Given the description of an element on the screen output the (x, y) to click on. 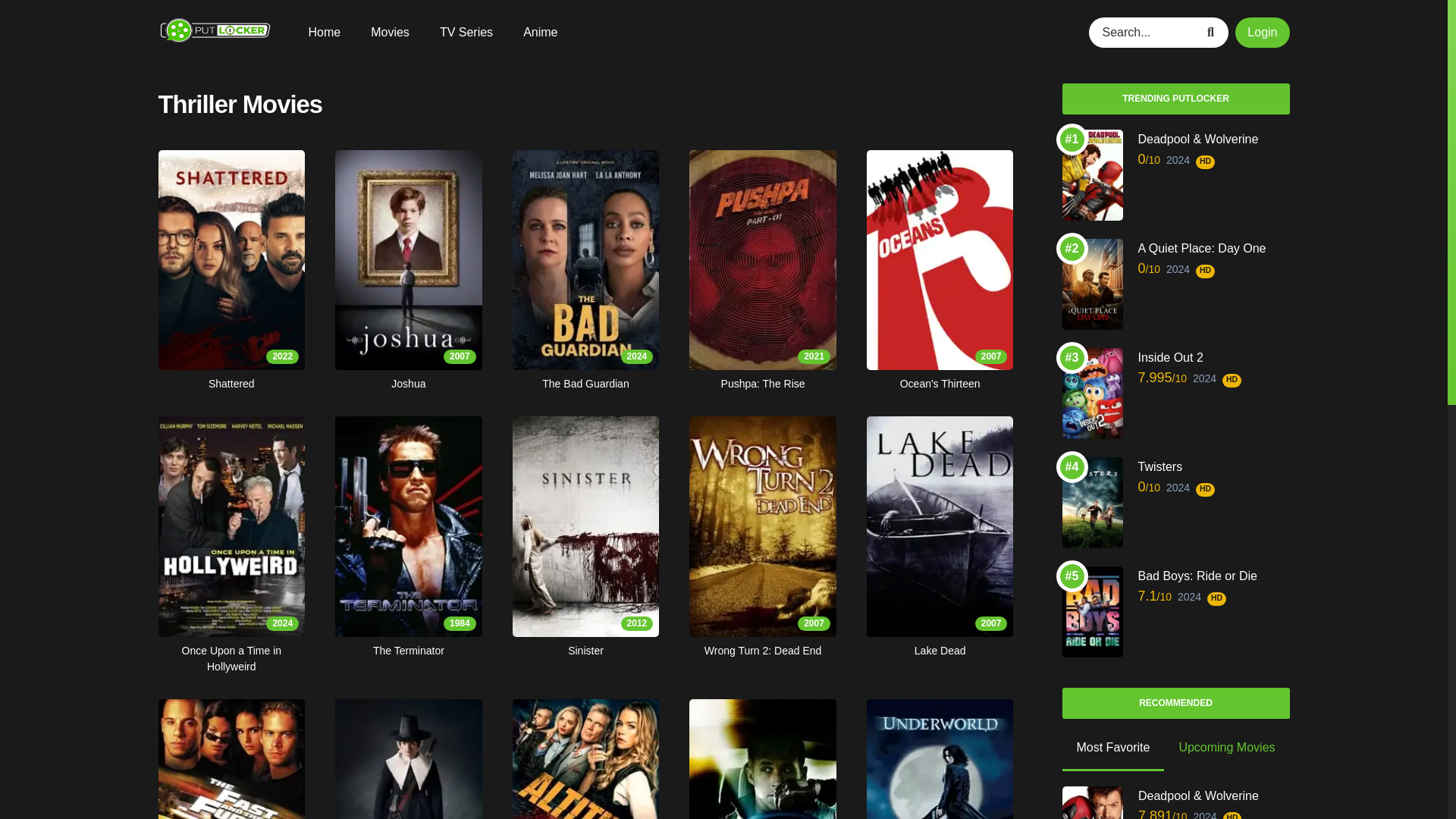
Login (761, 759)
Anime (939, 759)
Search (407, 759)
Home (585, 759)
TV Series (1261, 31)
Movies (539, 31)
